Given the description of an element on the screen output the (x, y) to click on. 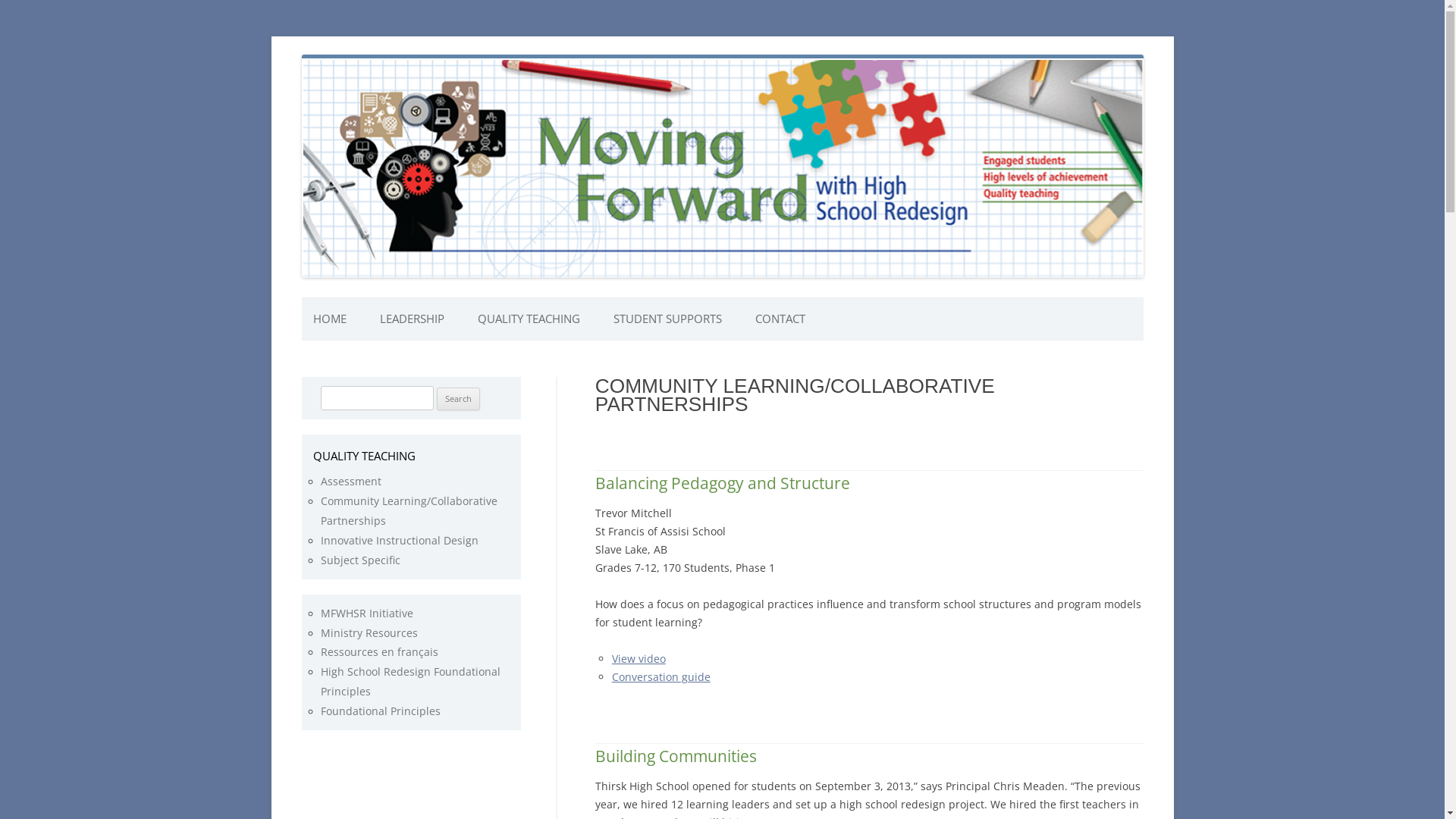
Foundational Principles Element type: text (379, 710)
Skip to content Element type: text (721, 297)
MFWHSR Initiative Element type: text (366, 612)
Ministry Resources Element type: text (368, 632)
Innovative Instructional Design Element type: text (398, 540)
HOME Element type: text (328, 318)
Search Element type: text (458, 398)
Conversation guide Element type: text (660, 676)
View video Element type: text (638, 658)
Community Learning/Collaborative Partnerships Element type: text (408, 510)
Assessment Element type: text (350, 480)
STUDENT SUPPORTS Element type: text (666, 318)
CONTACT Element type: text (780, 318)
QUALITY TEACHING Element type: text (528, 318)
High School Redesign Foundational Principles Element type: text (409, 681)
Subject Specific Element type: text (359, 559)
Moving Forward With High School Redesign Element type: text (513, 72)
LEADERSHIP Element type: text (411, 318)
